Given the description of an element on the screen output the (x, y) to click on. 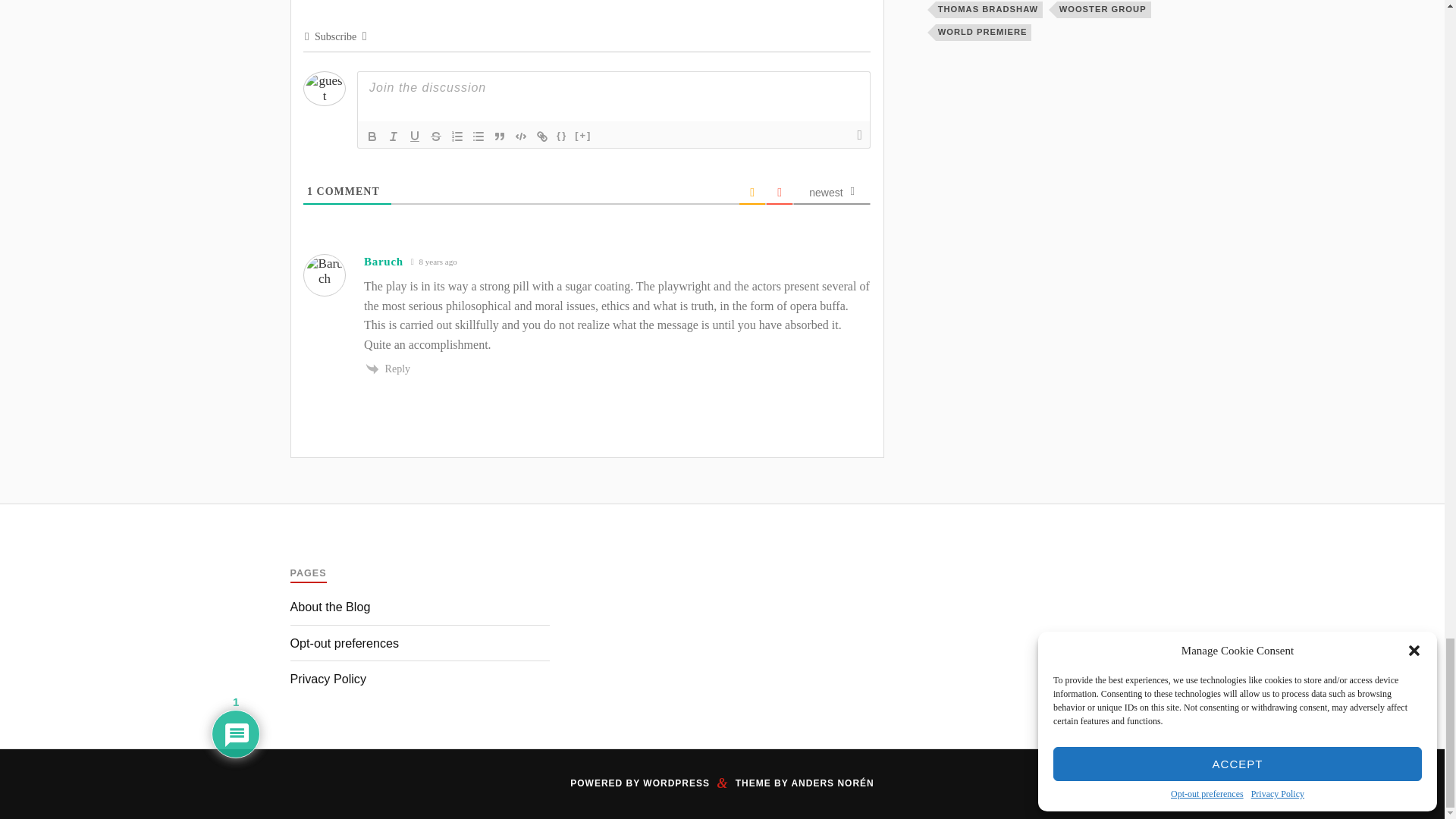
Link (542, 136)
Spoiler (582, 136)
Blockquote (500, 136)
Underline (414, 136)
Code Block (521, 136)
Italic (393, 136)
Strike (435, 136)
Bold (371, 136)
Unordered List (478, 136)
Ordered List (456, 136)
Source Code (561, 136)
